Given the description of an element on the screen output the (x, y) to click on. 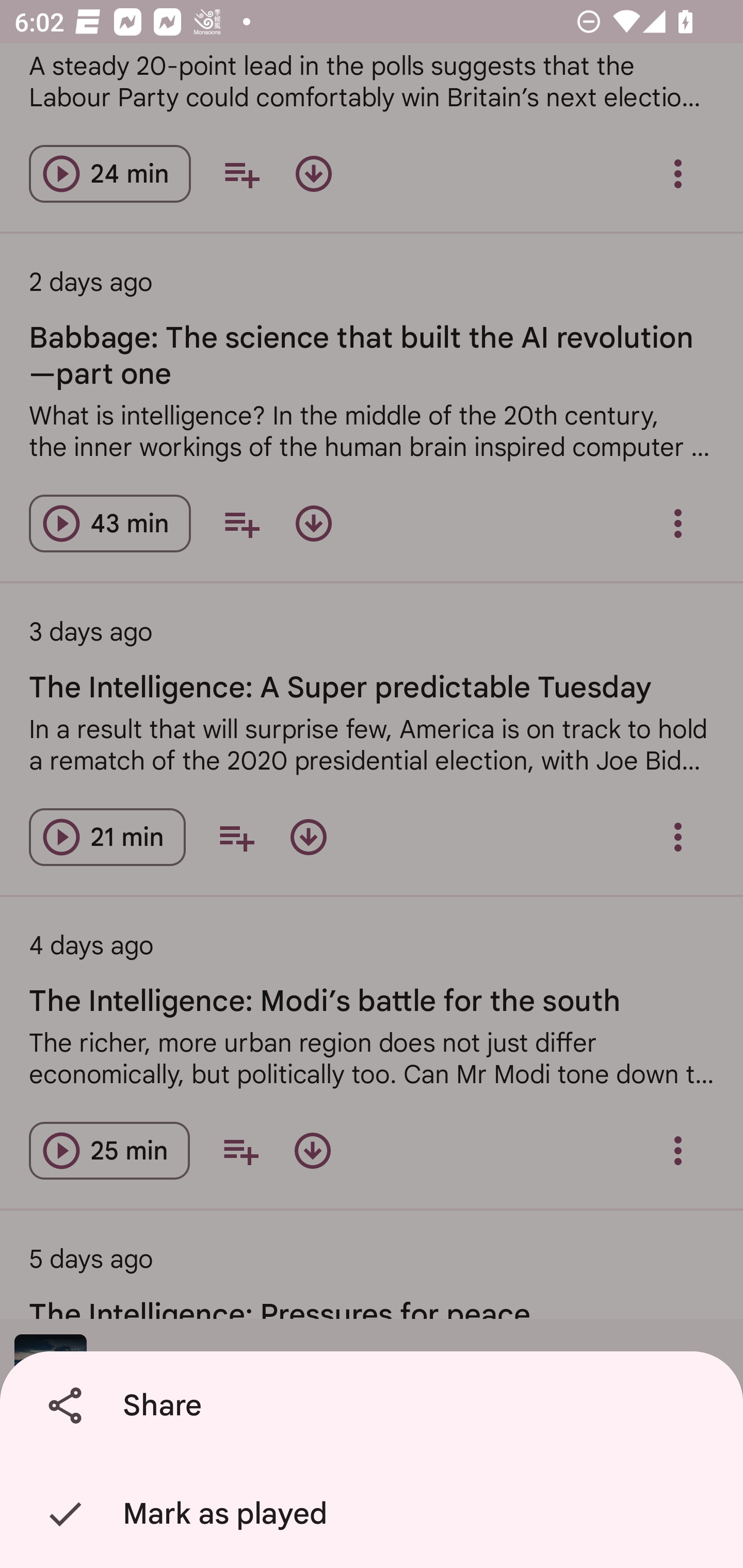
Share (375, 1405)
Mark as played (375, 1513)
